Given the description of an element on the screen output the (x, y) to click on. 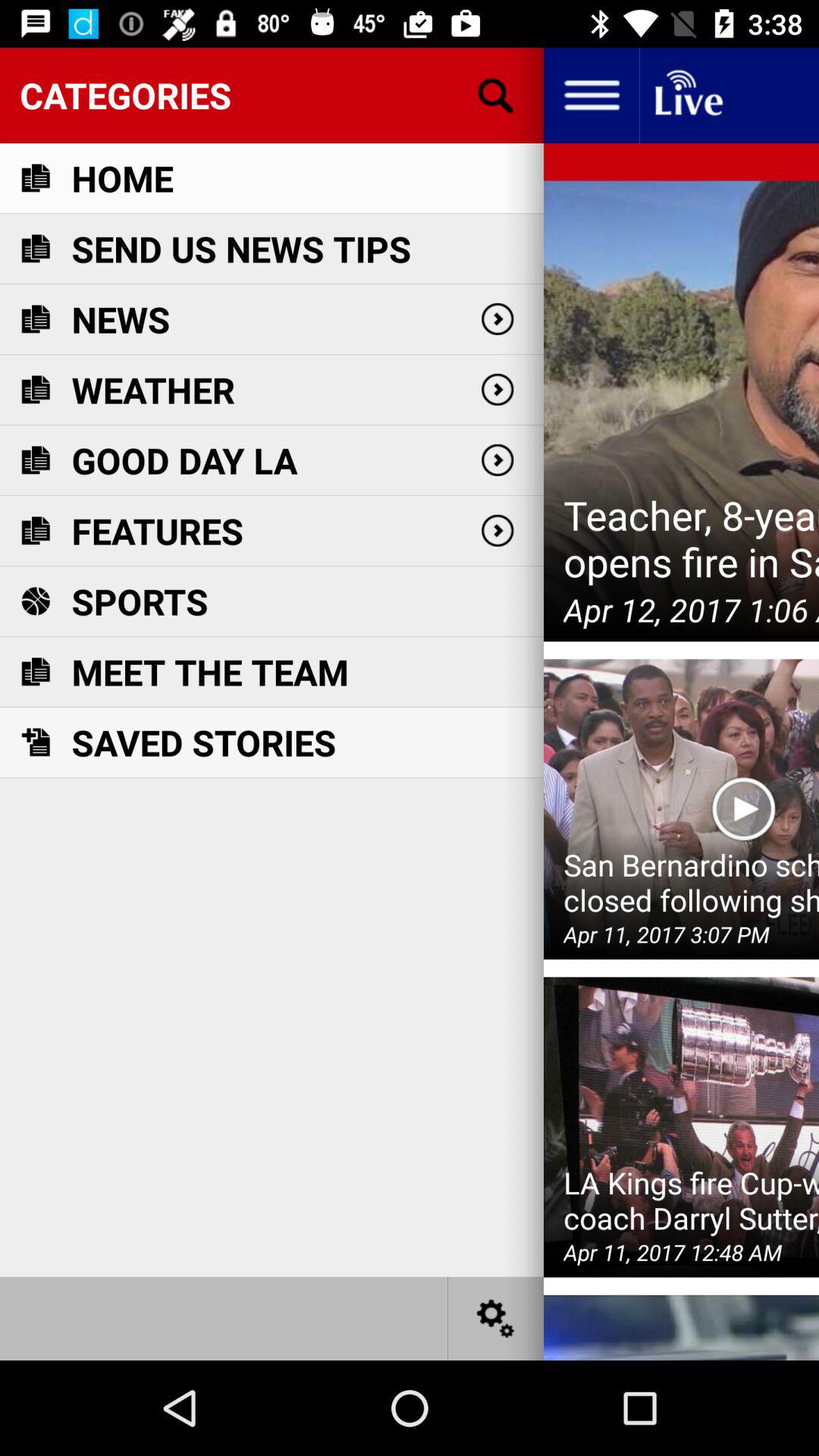
tap item below the weather (184, 460)
